Given the description of an element on the screen output the (x, y) to click on. 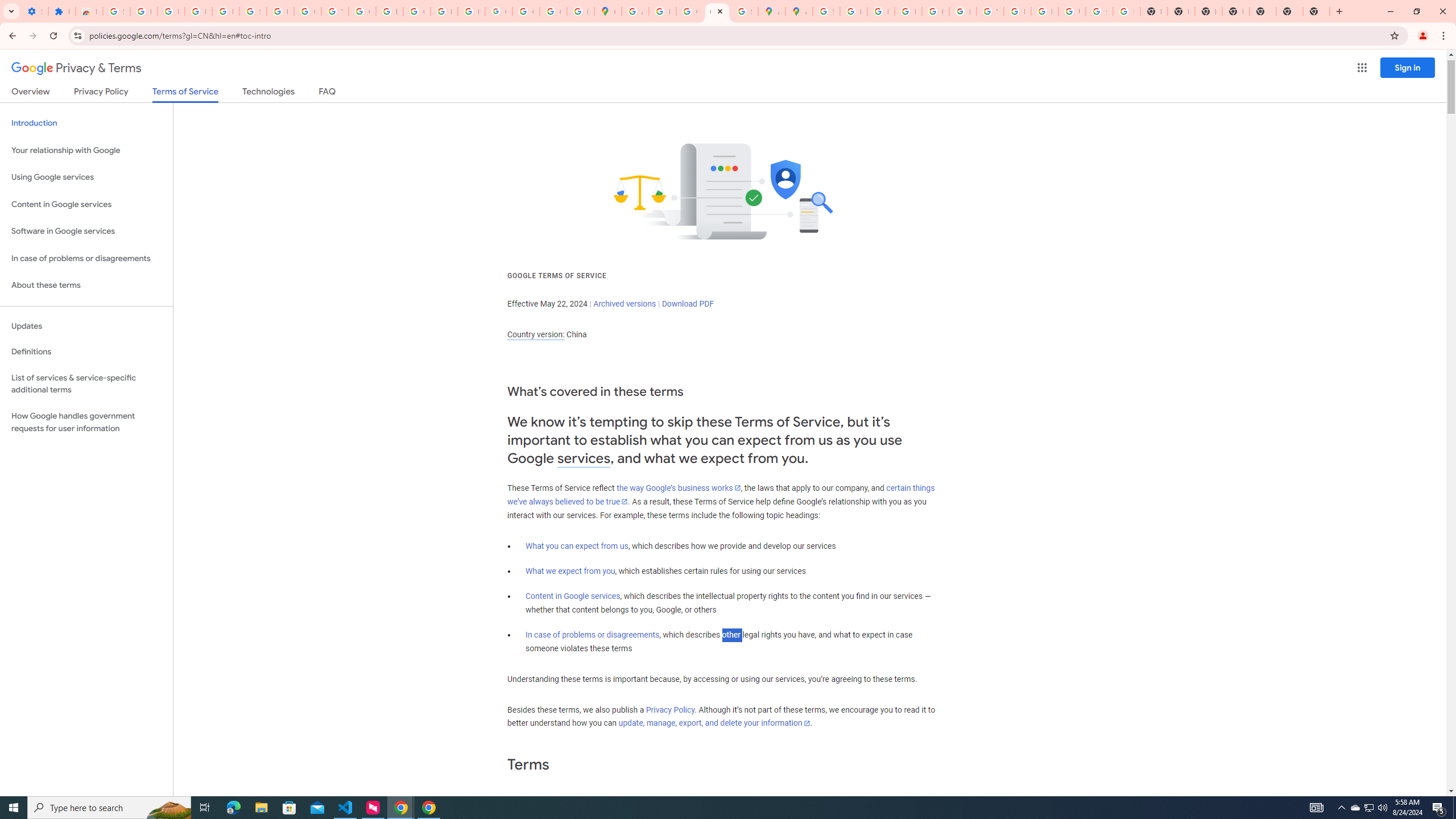
Software in Google services (86, 230)
Delete photos & videos - Computer - Google Photos Help (170, 11)
Learn how to find your photos - Google Photos Help (197, 11)
Sign in - Google Accounts (253, 11)
Sign in - Google Accounts (826, 11)
Sign in - Google Accounts (116, 11)
Overview (30, 93)
Country version: (535, 334)
Content in Google services (572, 596)
